Given the description of an element on the screen output the (x, y) to click on. 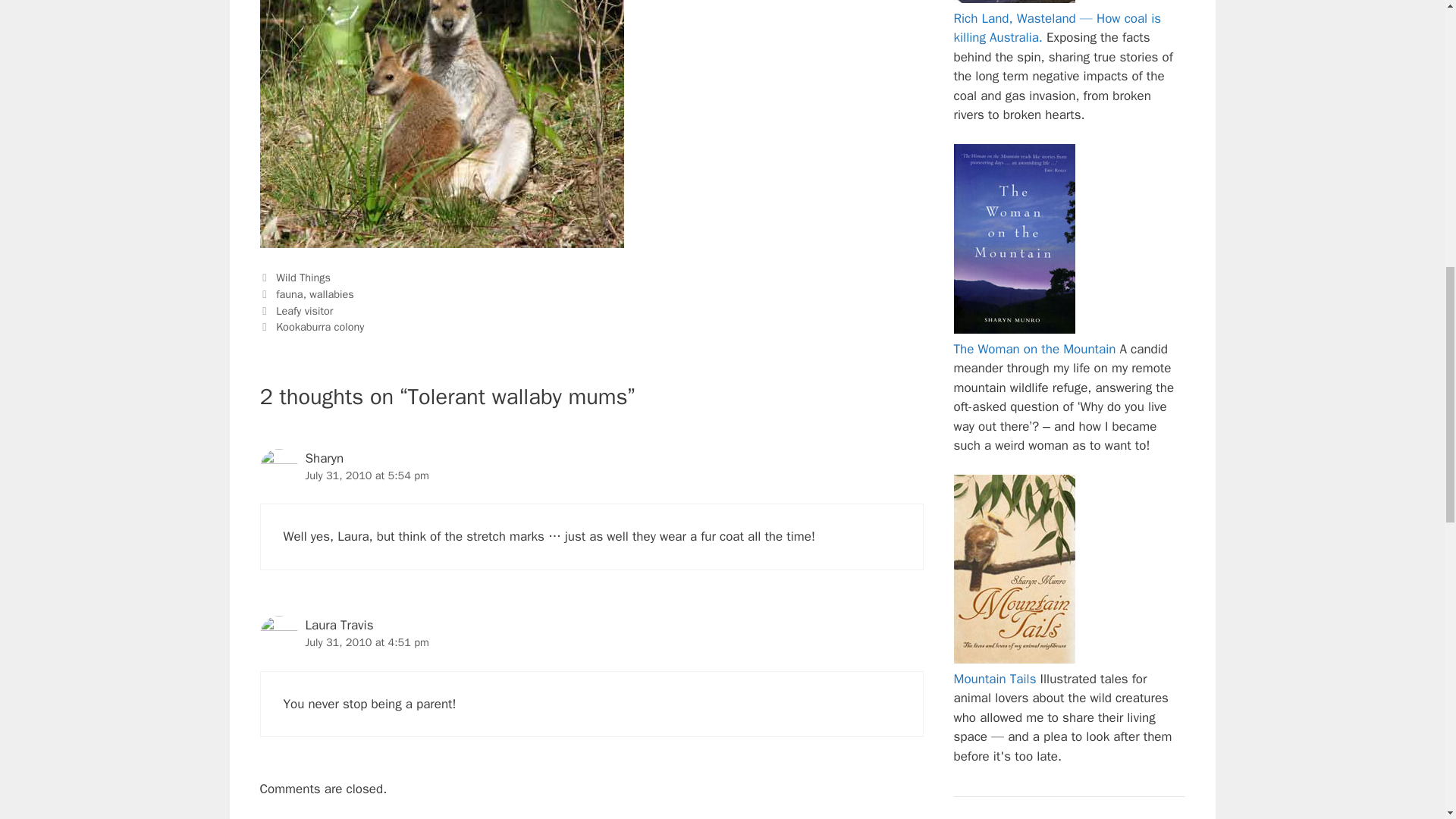
wallabies (330, 294)
Wild Things (303, 277)
wallaby-mum-3 (441, 124)
The Woman on the Mountain (1034, 349)
sharynbook (1014, 238)
July 31, 2010 at 4:51 pm (366, 642)
Mountain Tails (994, 678)
Leafy visitor (304, 310)
mt-200 (1014, 569)
July 31, 2010 at 5:54 pm (366, 475)
fauna (289, 294)
Kookaburra colony (320, 326)
